Given the description of an element on the screen output the (x, y) to click on. 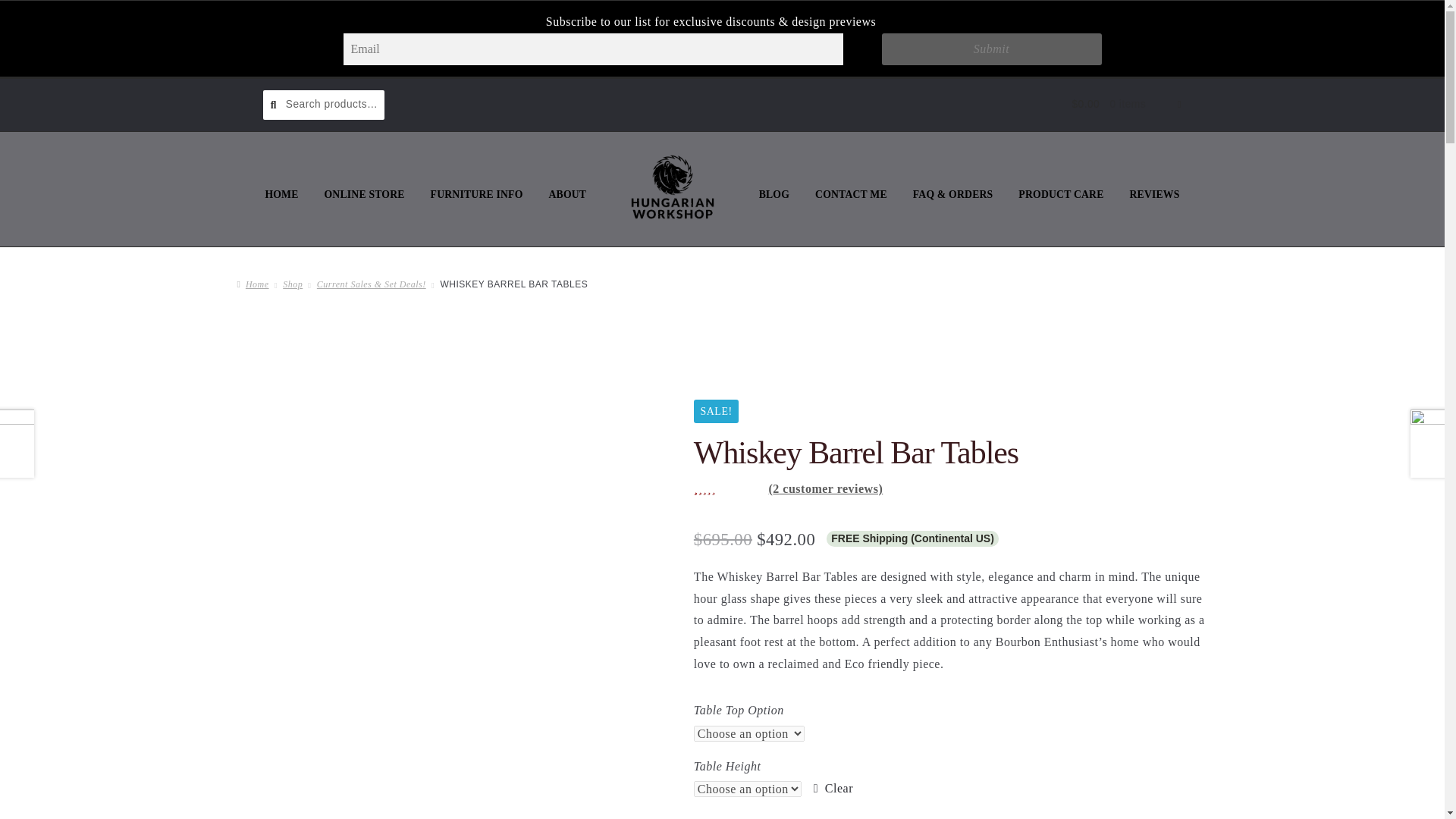
Submit (990, 49)
View your shopping cart (1117, 104)
Clear (833, 789)
BLOG (774, 194)
Home (251, 284)
REVIEWS (1154, 194)
FURNITURE INFO (476, 194)
PRODUCT CARE (1061, 194)
CONTACT ME (850, 194)
Submit (990, 49)
ABOUT (566, 194)
Shop (292, 284)
ONLINE STORE (364, 194)
